Given the description of an element on the screen output the (x, y) to click on. 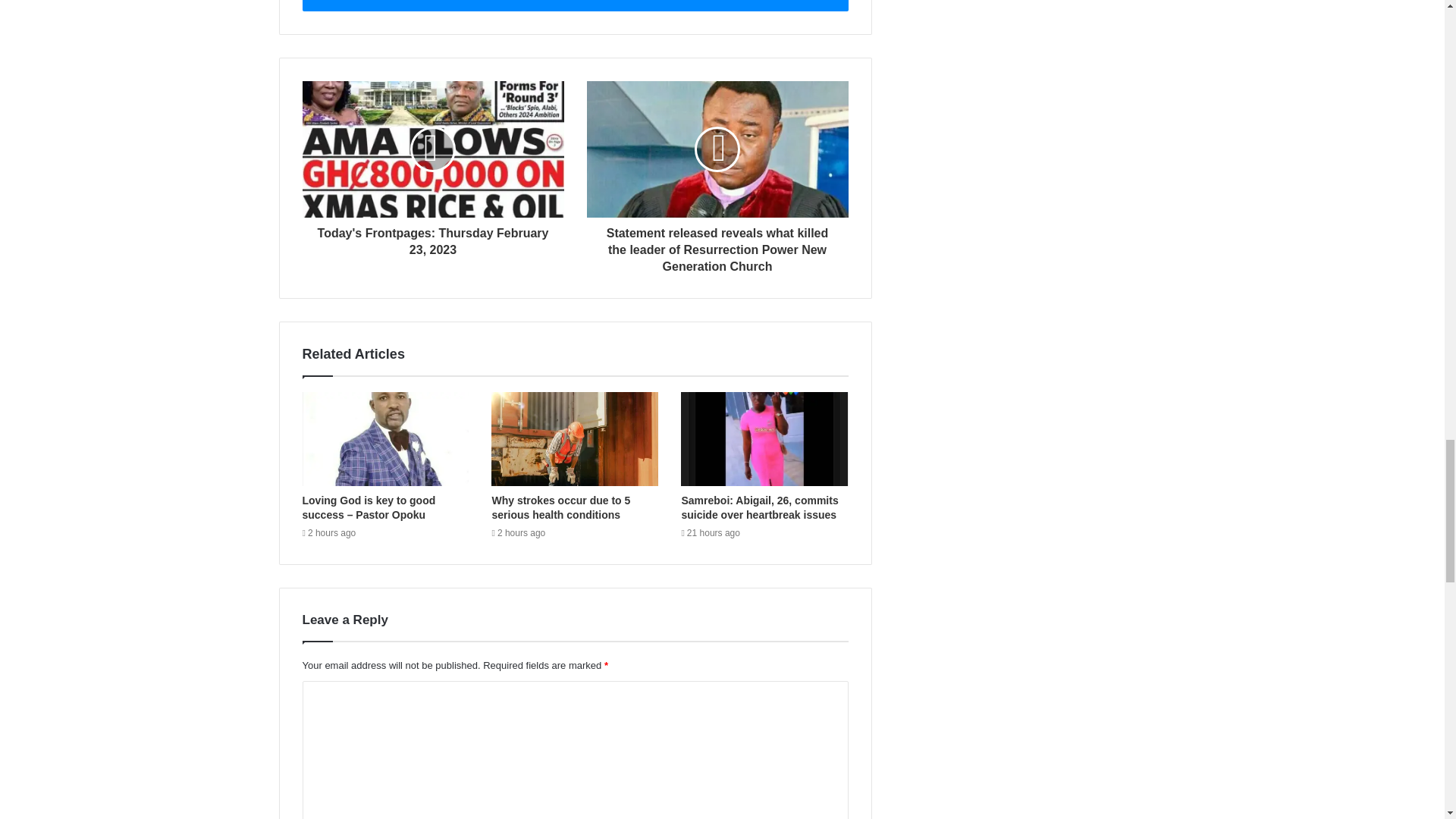
Subscribe (574, 5)
